Given the description of an element on the screen output the (x, y) to click on. 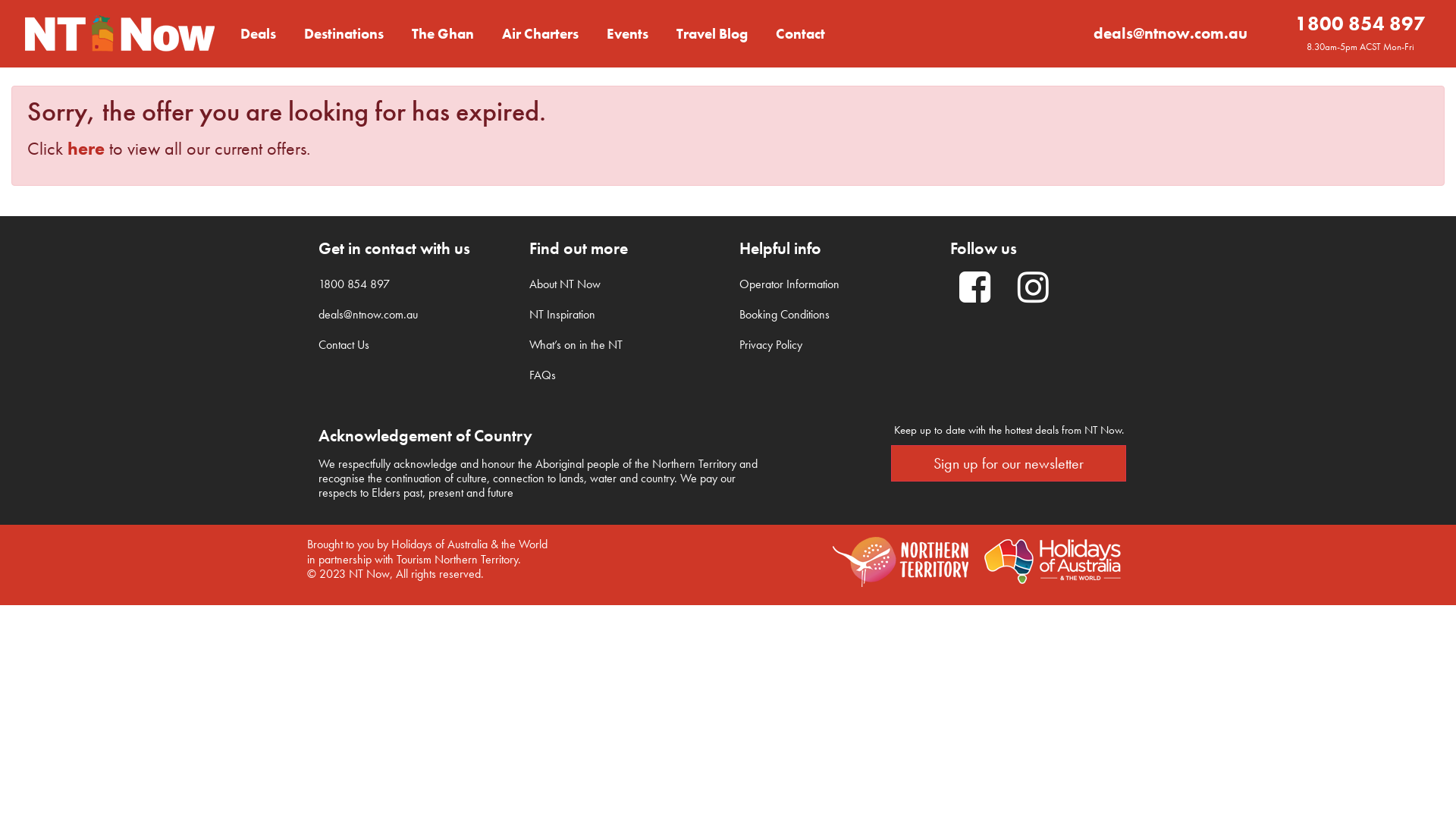
deals@ntnow.com.au Element type: text (1170, 33)
Destinations Element type: text (343, 33)
Privacy Policy Element type: text (770, 344)
Sign up for our newsletter Element type: text (1008, 463)
About NT Now Element type: text (564, 283)
Contact Element type: text (800, 33)
Booking Conditions Element type: text (784, 314)
here Element type: text (85, 148)
Air Charters Element type: text (539, 33)
NT Inspiration Element type: text (562, 314)
Contact Us Element type: text (343, 344)
1800 854 897 Element type: text (1360, 23)
deals@ntnow.com.au Element type: text (367, 314)
The Ghan Element type: text (442, 33)
Deals Element type: text (258, 33)
Operator Information Element type: text (789, 283)
1800 854 897 Element type: text (353, 283)
Events Element type: text (627, 33)
FAQs Element type: text (542, 374)
Travel Blog Element type: text (711, 33)
NT Now - Cracking Good Deals to the NT Element type: hover (118, 33)
